Given the description of an element on the screen output the (x, y) to click on. 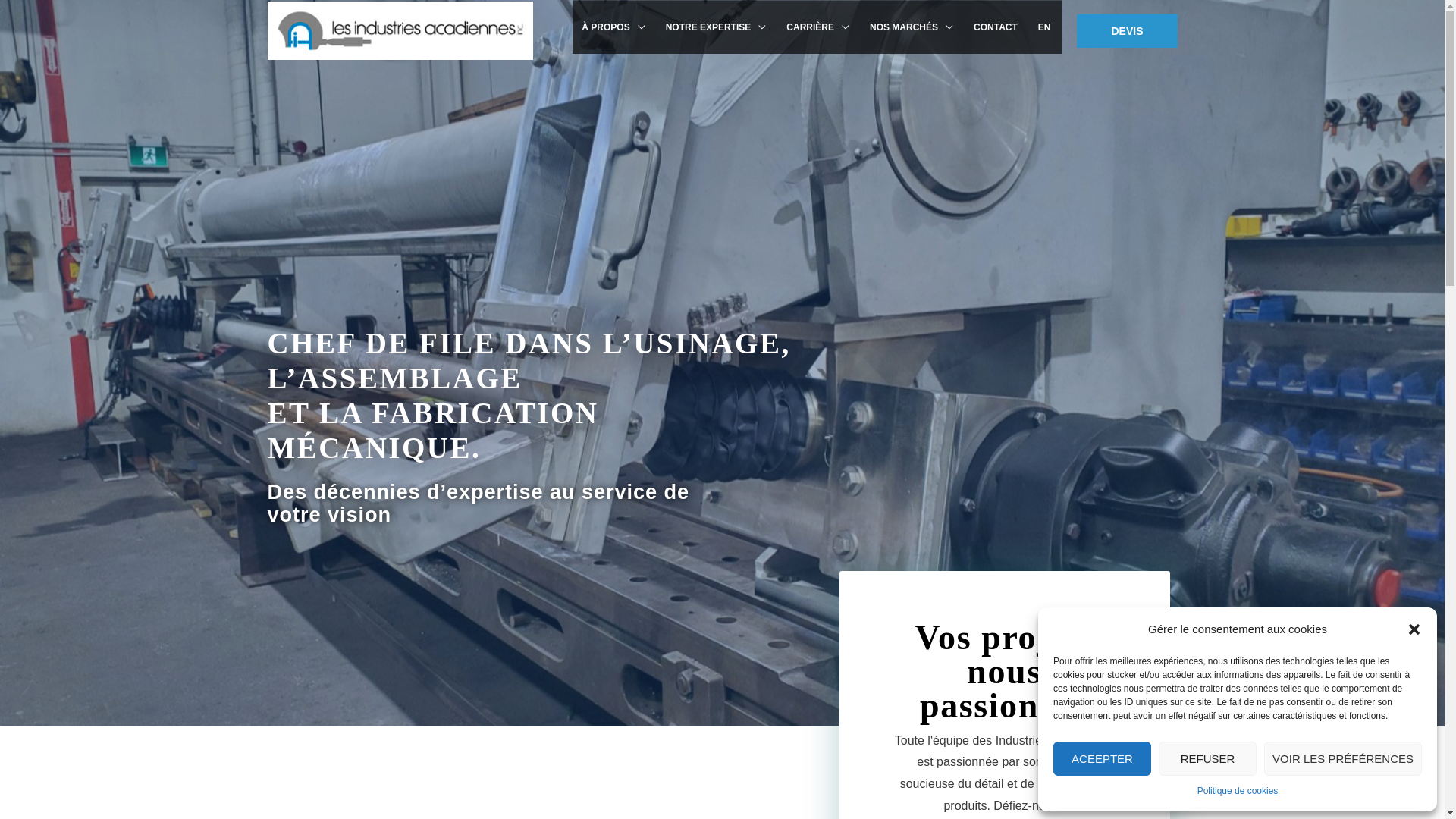
ACEEPTER Element type: text (1102, 758)
CONTACT Element type: text (996, 26)
DEVIS Element type: text (1126, 30)
Politique de cookies Element type: text (1237, 791)
NOTRE EXPERTISE Element type: text (717, 26)
EN Element type: text (1045, 26)
REFUSER Element type: text (1207, 758)
